Given the description of an element on the screen output the (x, y) to click on. 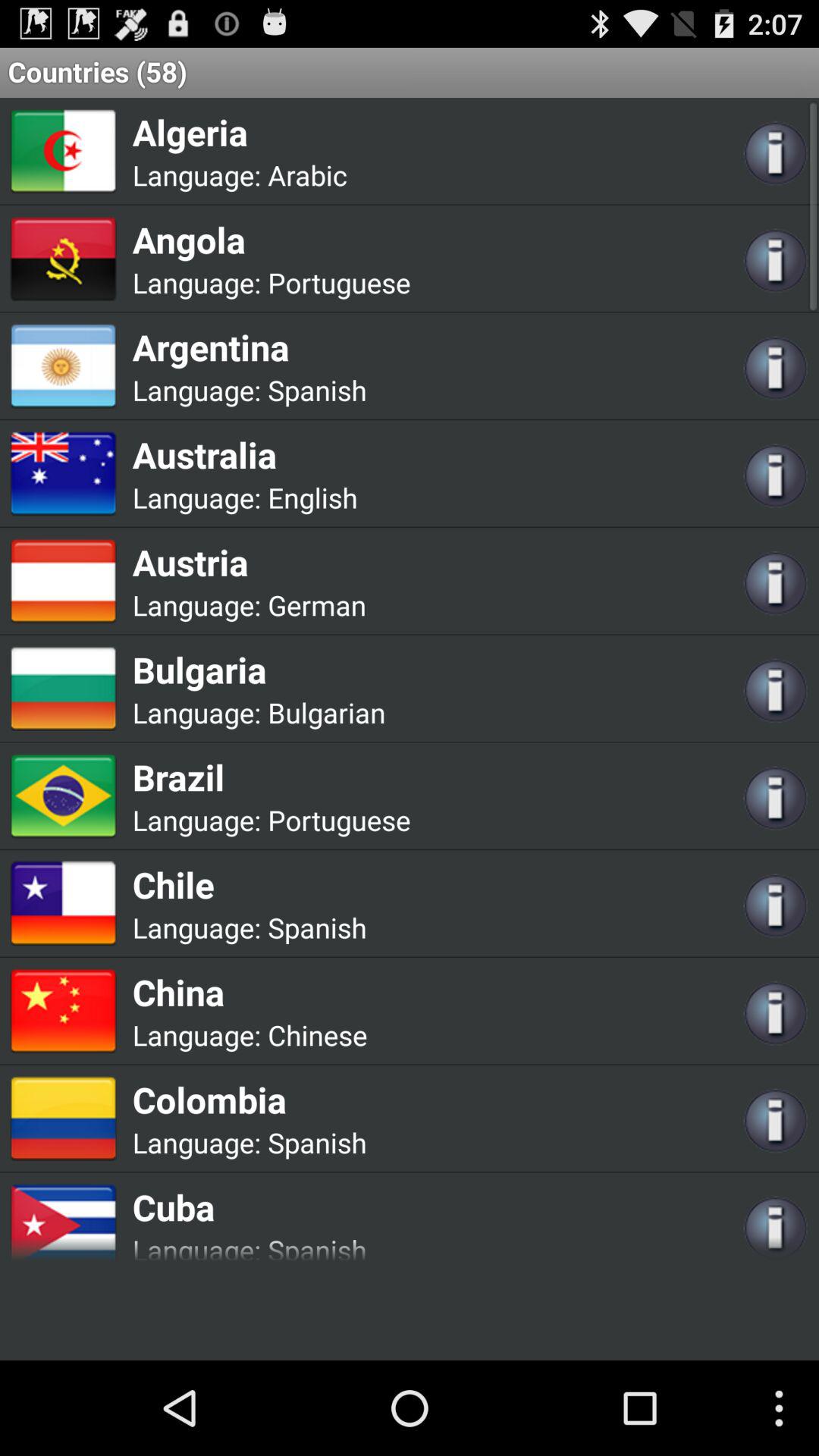
choose the item below the china (317, 1034)
